Given the description of an element on the screen output the (x, y) to click on. 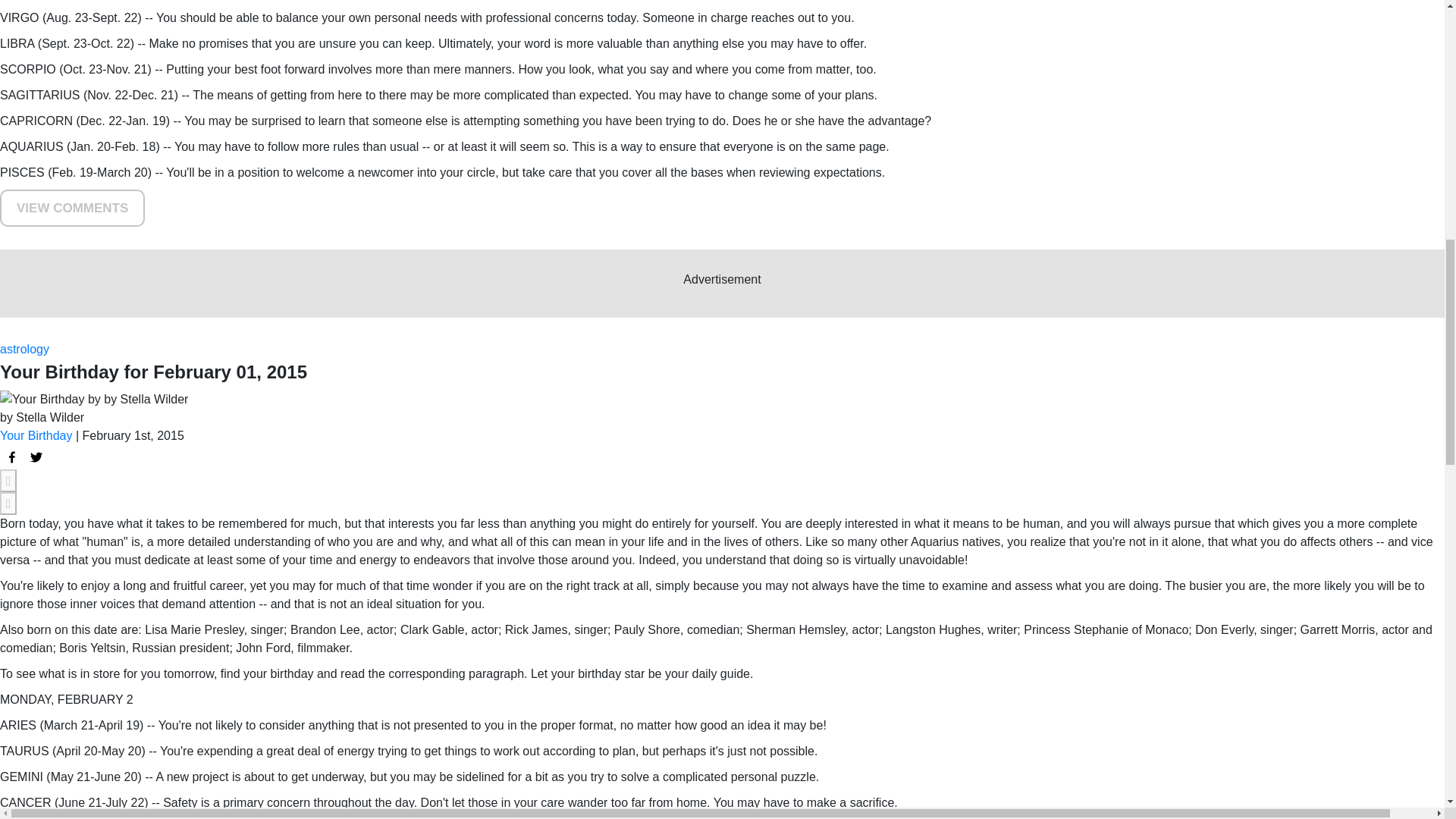
Your Birthday (35, 435)
astrology (24, 349)
VIEW COMMENTS (72, 208)
Your Birthday for February 01, 2015 (12, 457)
